Given the description of an element on the screen output the (x, y) to click on. 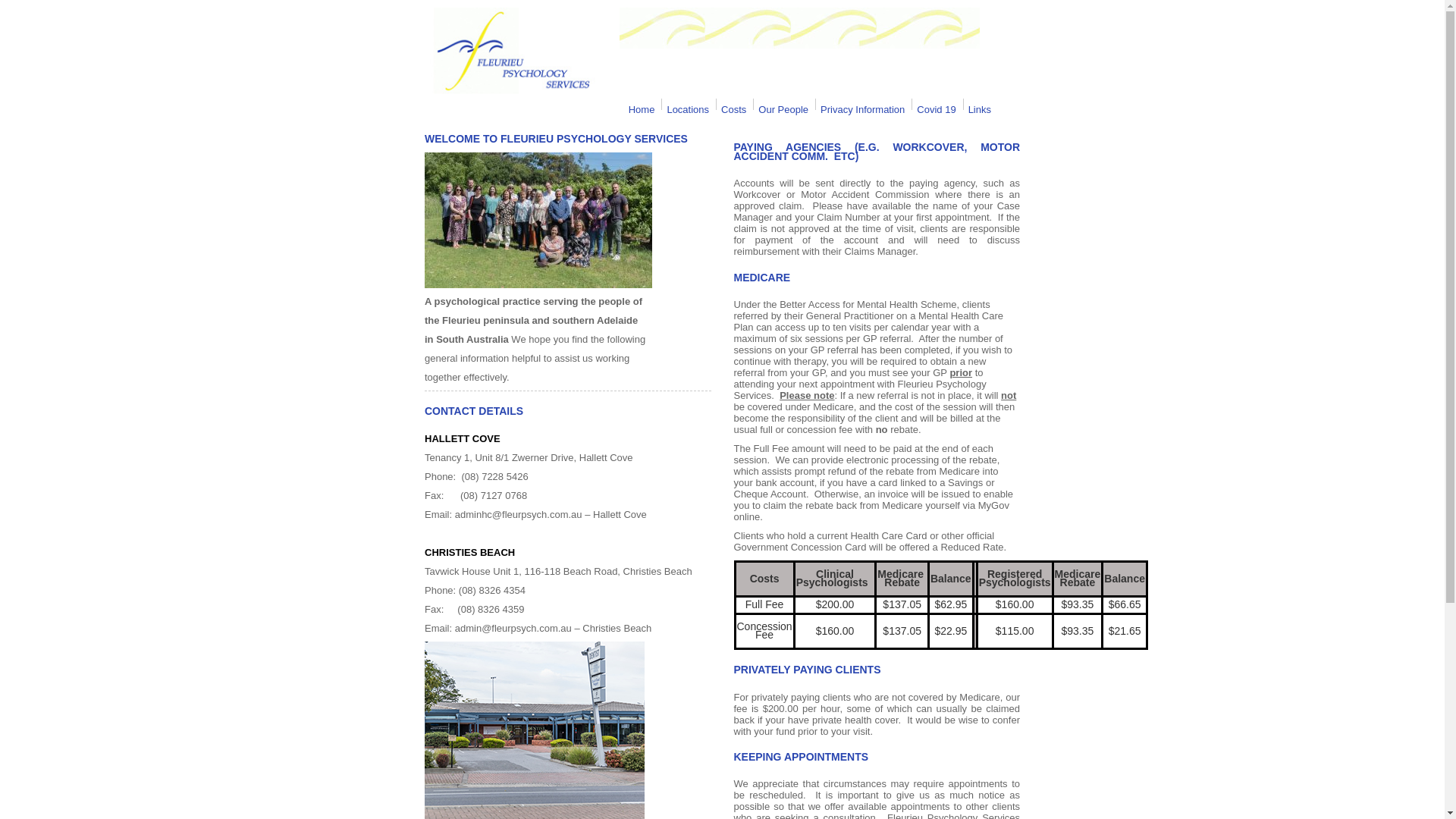
Costs Element type: text (733, 109)
Privacy Information Element type: text (862, 109)
Our People Element type: text (783, 109)
Locations Element type: text (687, 109)
Covid 19 Element type: text (936, 109)
Home Element type: text (641, 109)
Links Element type: text (979, 109)
